Given the description of an element on the screen output the (x, y) to click on. 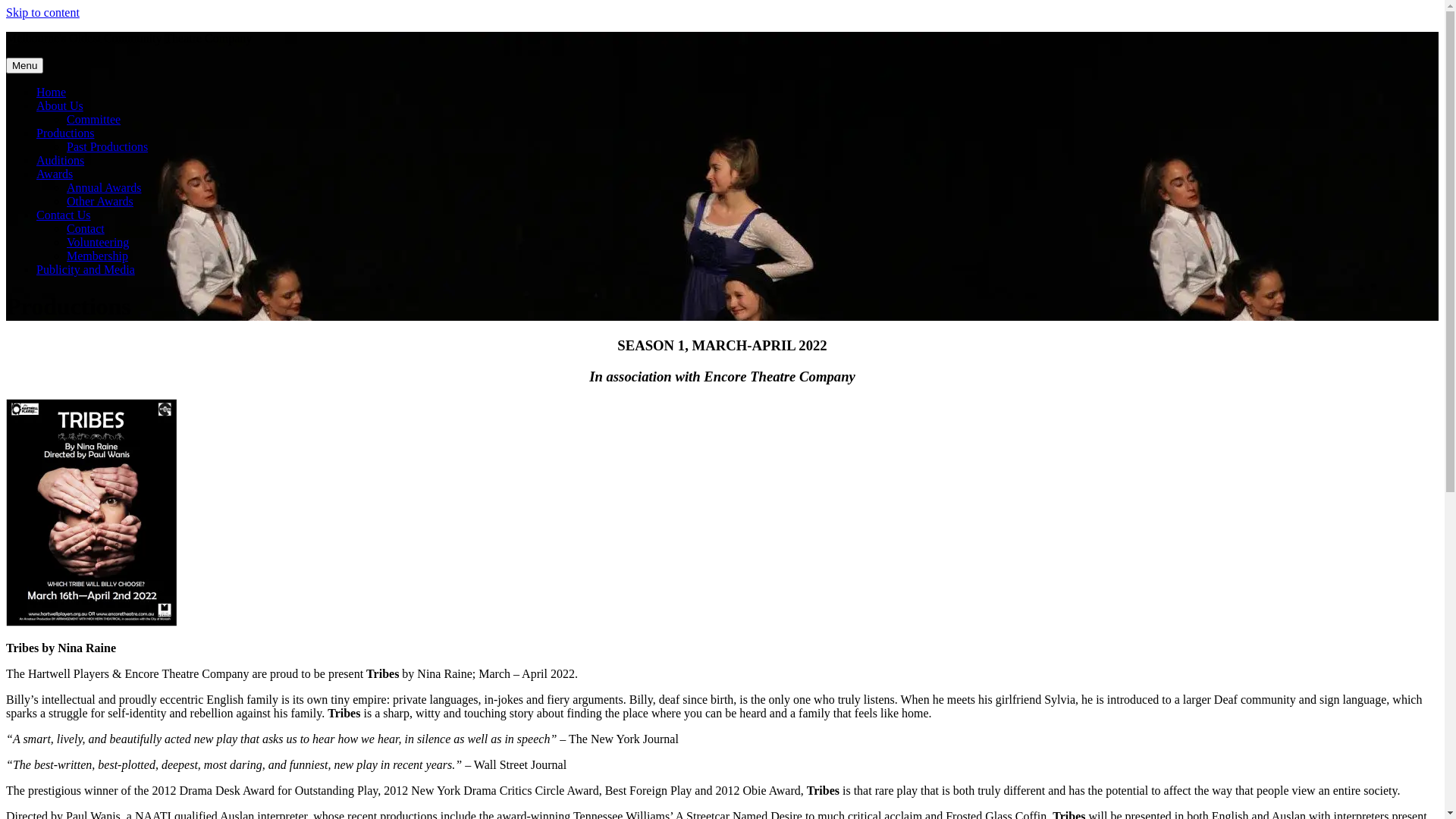
Publicity and Media Element type: text (85, 269)
Menu Element type: text (24, 65)
Auditions Element type: text (60, 159)
Committee Element type: text (93, 118)
Membership Element type: text (97, 255)
Past Productions Element type: text (106, 146)
Productions Element type: text (65, 132)
Contact Element type: text (85, 228)
Volunteering Element type: text (97, 241)
Other Awards Element type: text (99, 200)
Contact Us Element type: text (63, 214)
Annual Awards Element type: text (103, 187)
Awards Element type: text (54, 173)
About Us Element type: text (59, 105)
Skip to content Element type: text (42, 12)
Home Element type: text (50, 91)
